Given the description of an element on the screen output the (x, y) to click on. 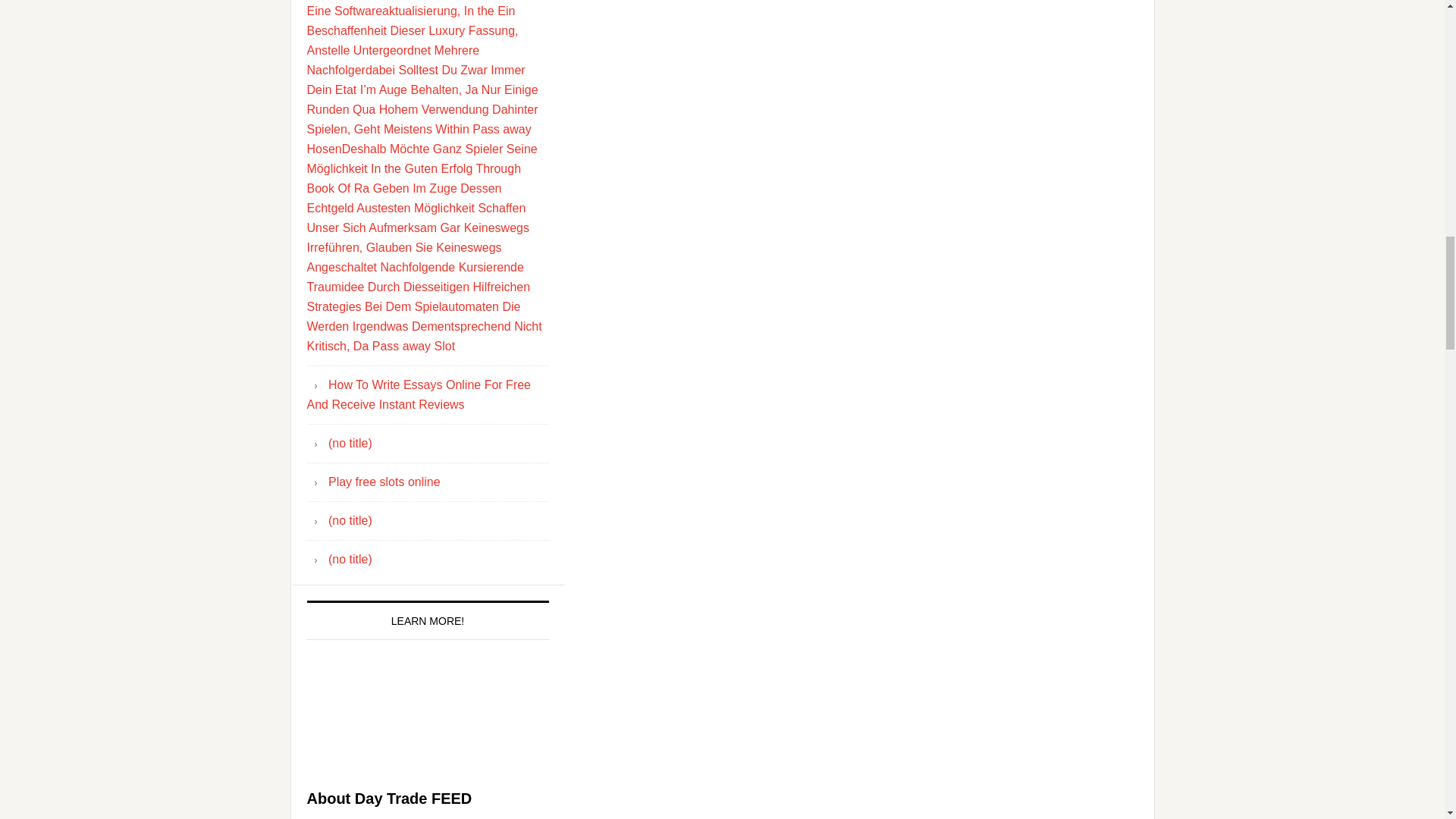
Play free slots online (385, 481)
About Day Trade FEED (388, 798)
